Given the description of an element on the screen output the (x, y) to click on. 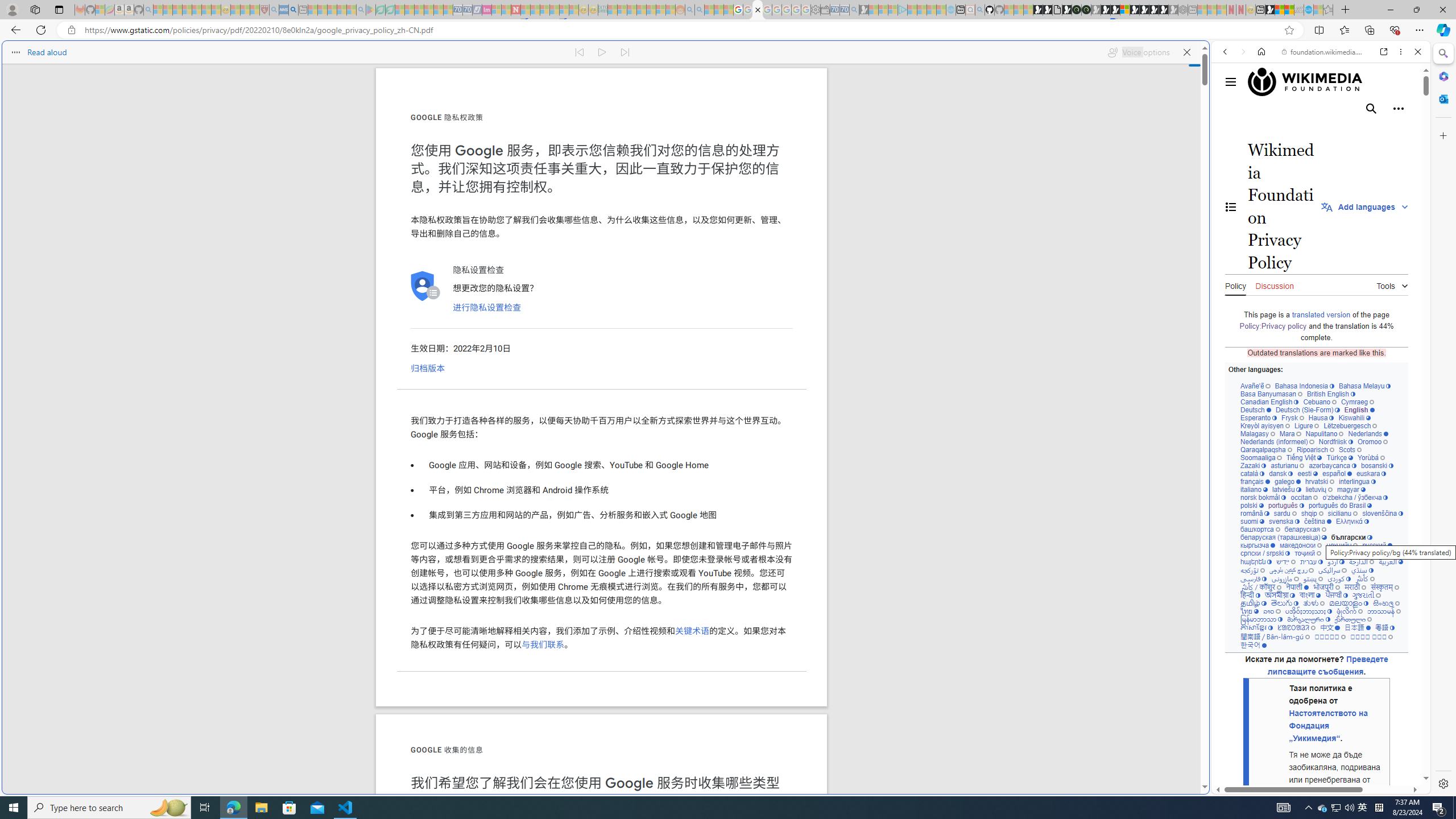
Bahasa Melayu (1364, 385)
Ripoarisch (1314, 449)
